Given the description of an element on the screen output the (x, y) to click on. 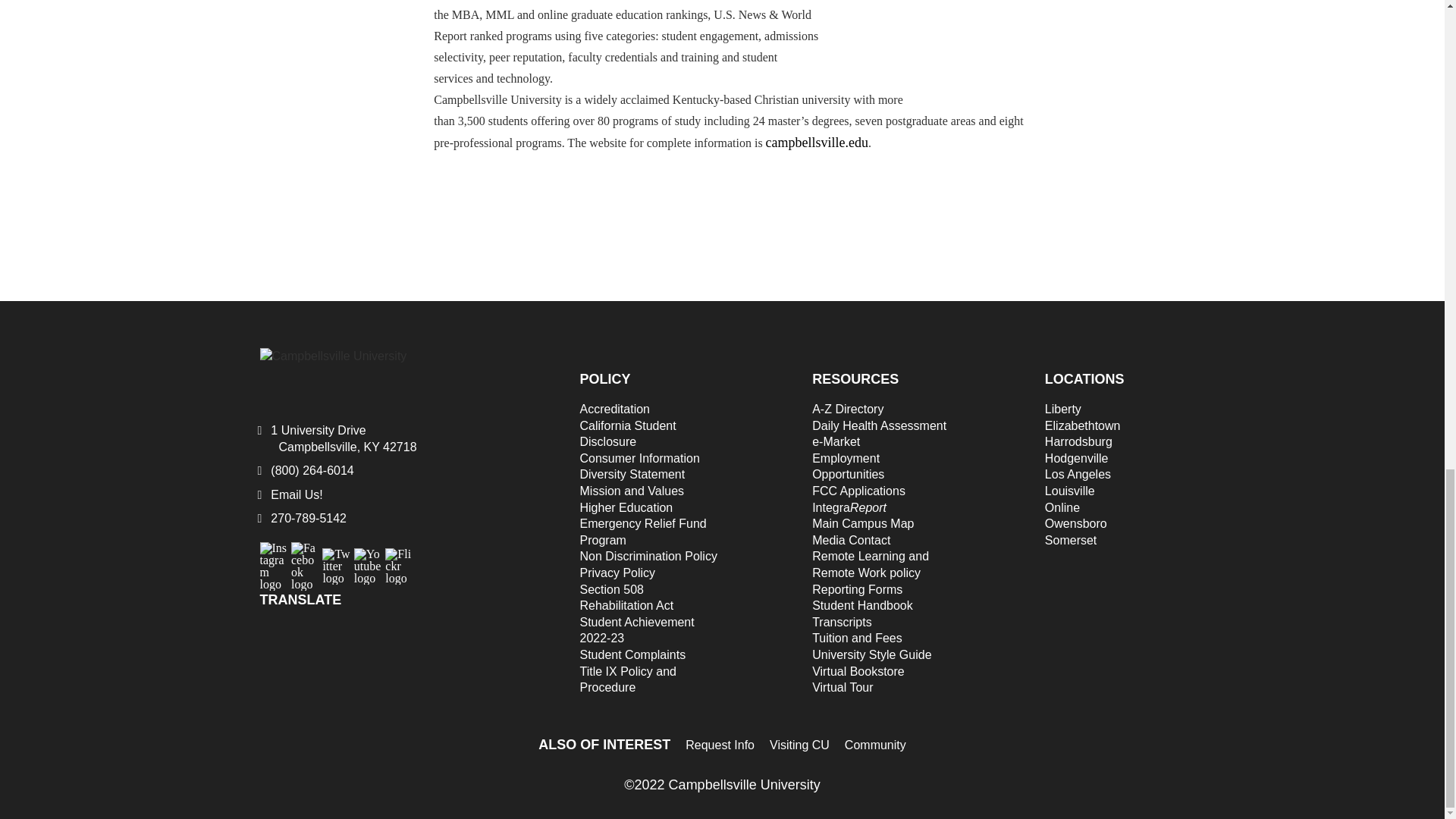
Facebook (304, 556)
Flickr (399, 561)
Twitter (335, 561)
Instagram (272, 556)
Youtube (367, 561)
